Given the description of an element on the screen output the (x, y) to click on. 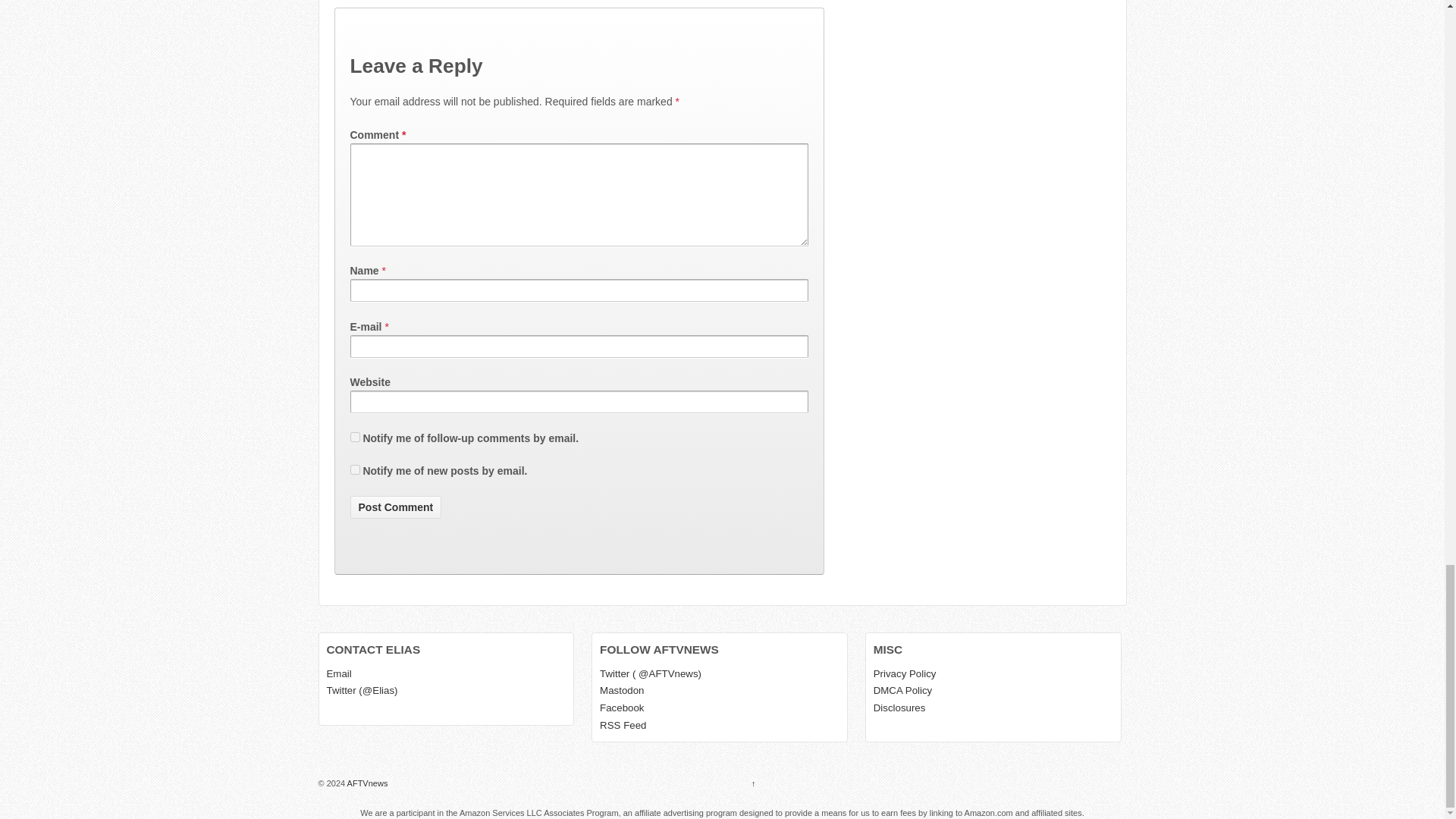
subscribe (354, 437)
subscribe (354, 470)
Post Comment (396, 507)
